Given the description of an element on the screen output the (x, y) to click on. 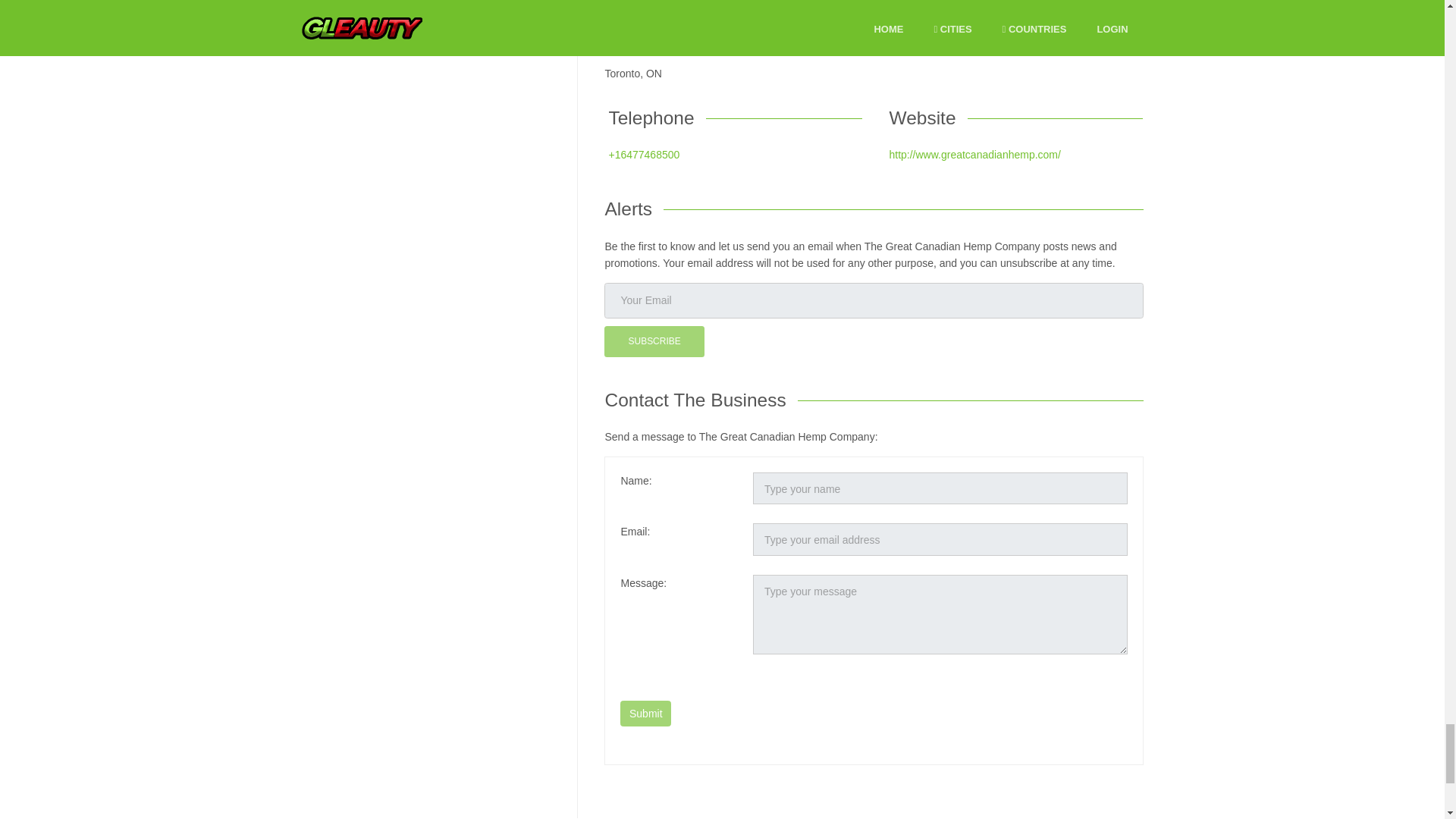
Submit (645, 713)
SUBSCRIBE (653, 341)
Submit (645, 713)
